Given the description of an element on the screen output the (x, y) to click on. 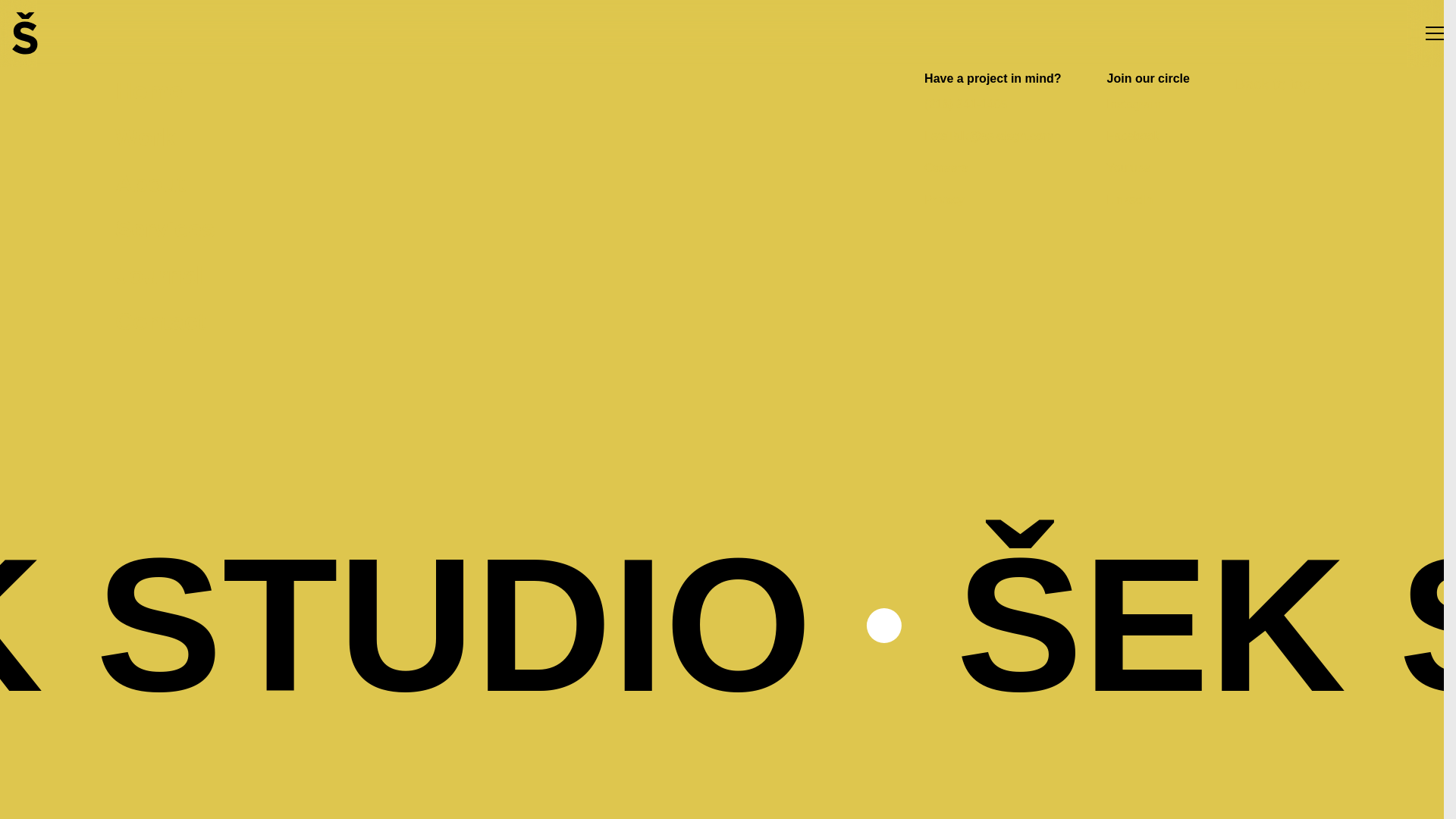
Journal (165, 275)
Facebook (1133, 136)
About (165, 182)
Privacy (943, 200)
Services (165, 229)
Youtube (1128, 168)
Contact (165, 321)
Back to top (1280, 83)
Instagram (1133, 104)
Careers (946, 168)
Home (165, 92)
LinkedIn (1129, 200)
Work (165, 136)
